Given the description of an element on the screen output the (x, y) to click on. 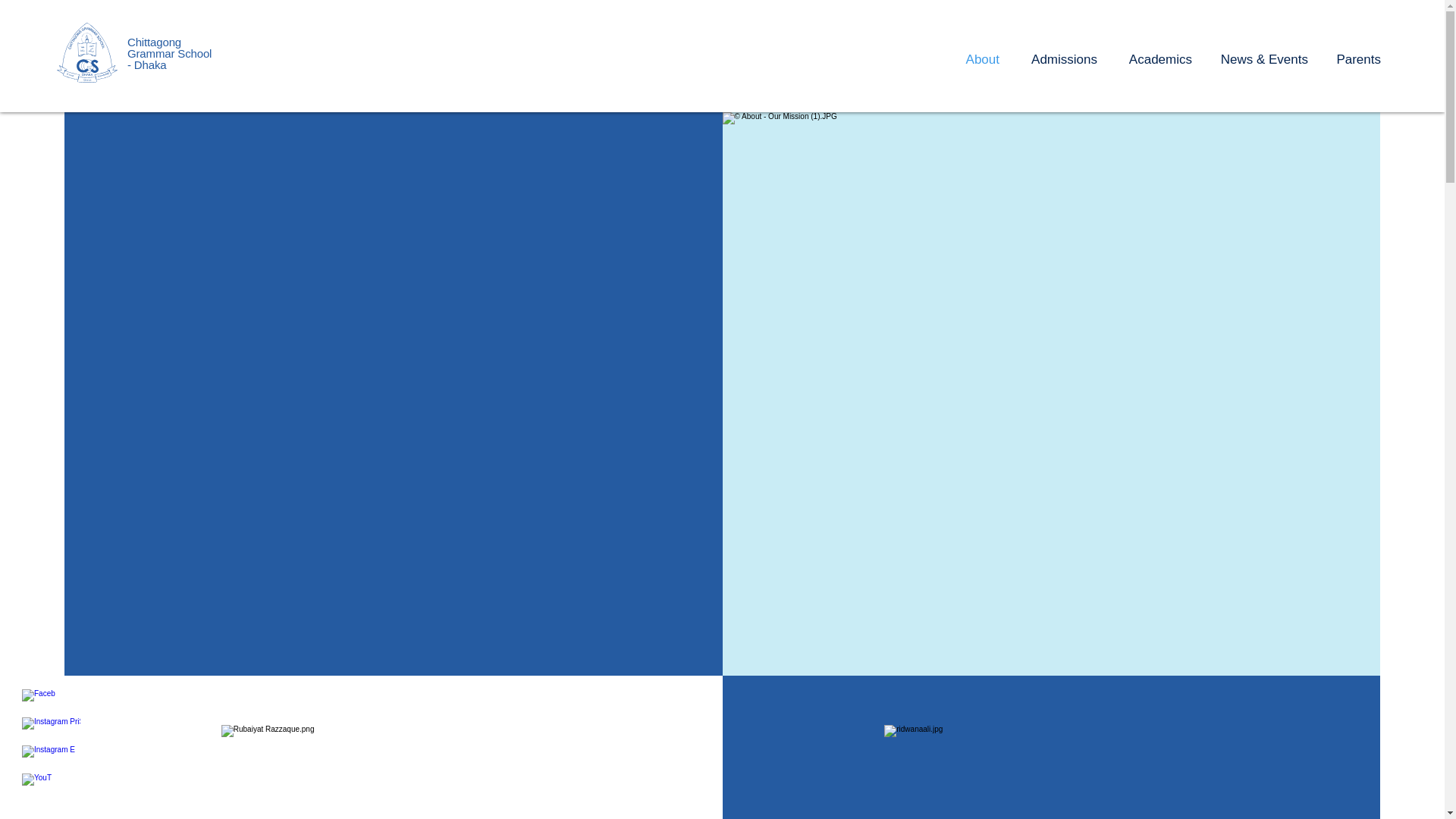
Chittagong Grammar School - Dhaka (169, 53)
Academics (1156, 59)
Admissions (1059, 59)
About (978, 59)
Parents (1355, 59)
